Given the description of an element on the screen output the (x, y) to click on. 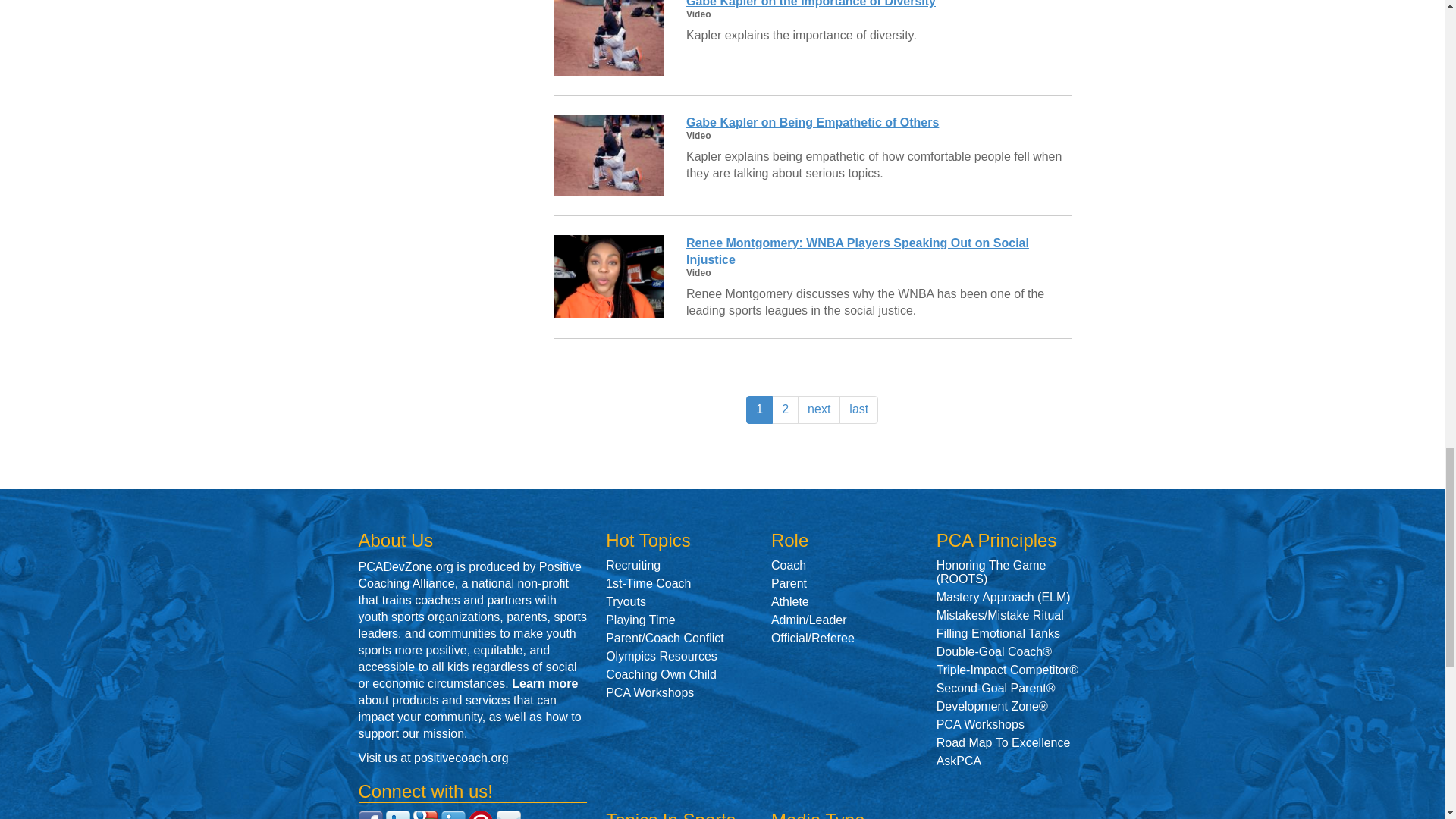
Go to page 2 (784, 409)
